Given the description of an element on the screen output the (x, y) to click on. 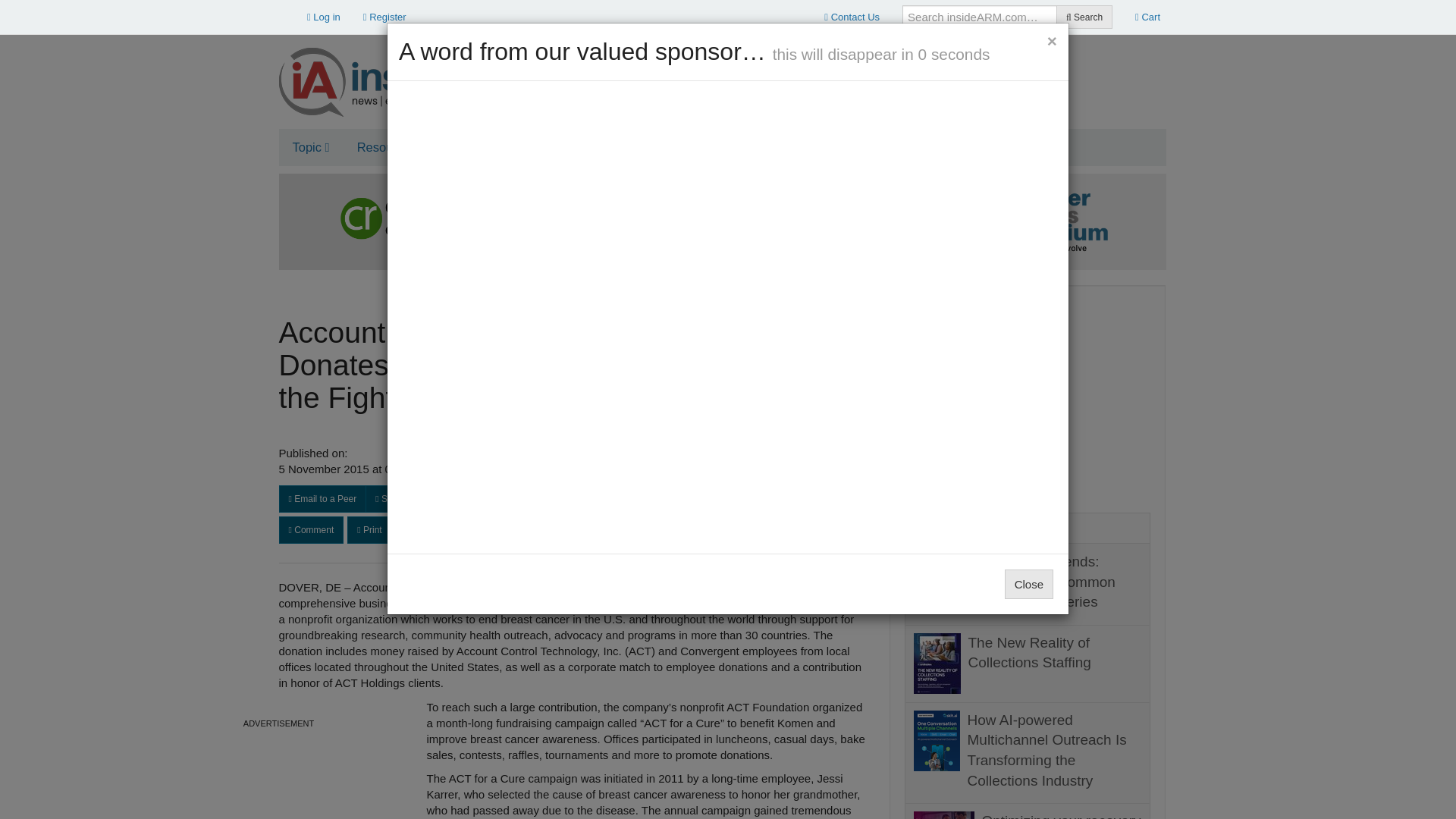
Resources (390, 147)
Log in (323, 17)
Contact Us (851, 17)
3rd party ad content (279, 776)
Register (384, 17)
Topic (311, 147)
3rd party ad content (889, 75)
3rd party ad content (1027, 394)
Cart (1148, 17)
Search (1084, 16)
Advertise (481, 147)
